Given the description of an element on the screen output the (x, y) to click on. 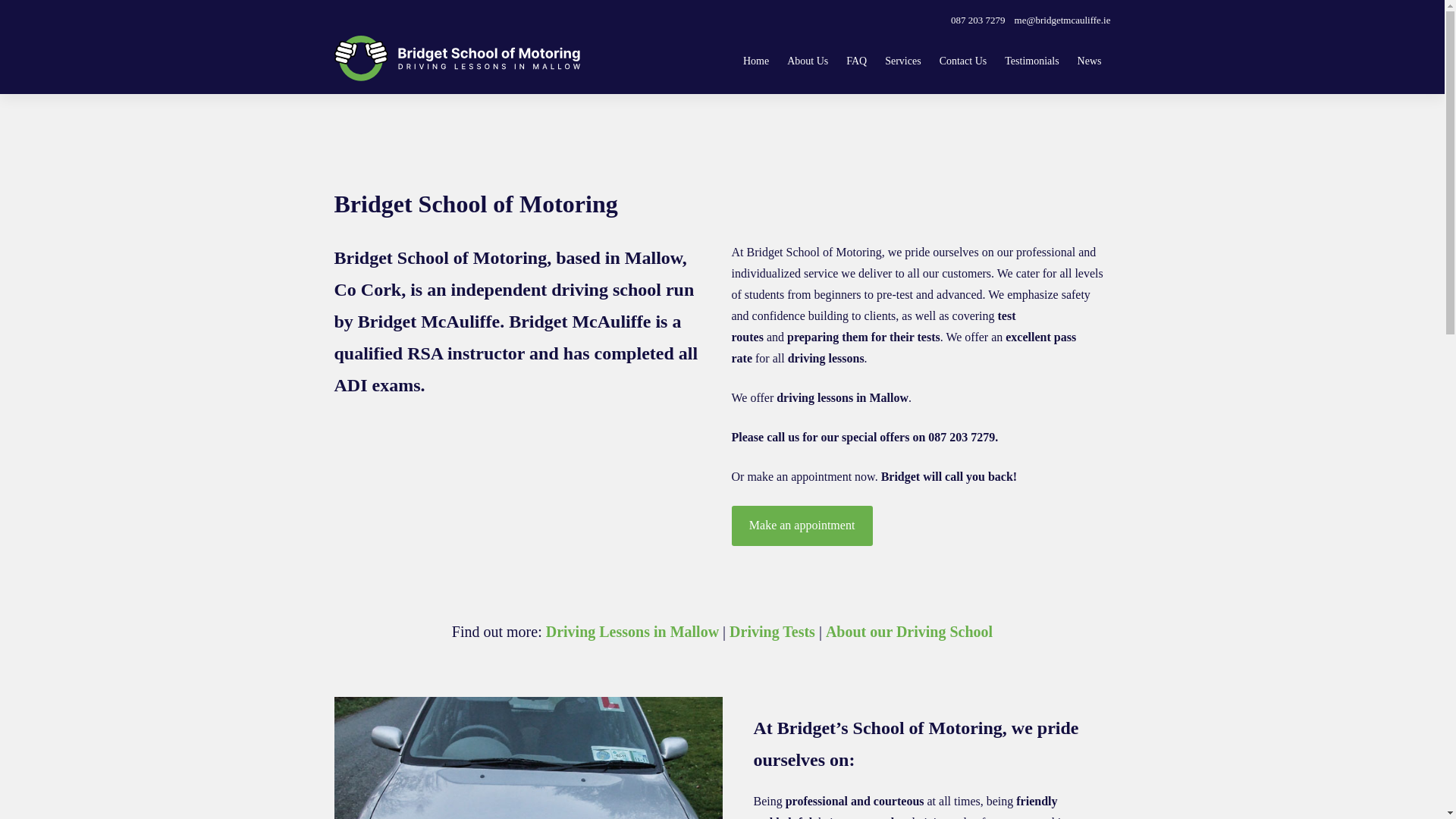
News (1089, 61)
Contact Us (962, 61)
About our Driving School (908, 631)
Testimonials (1031, 61)
087 203 7279 (974, 20)
Services (903, 61)
Driving Tests (772, 631)
FAQ (856, 61)
Make an appointment (801, 526)
Driving Lessons in Mallow (632, 631)
